Given the description of an element on the screen output the (x, y) to click on. 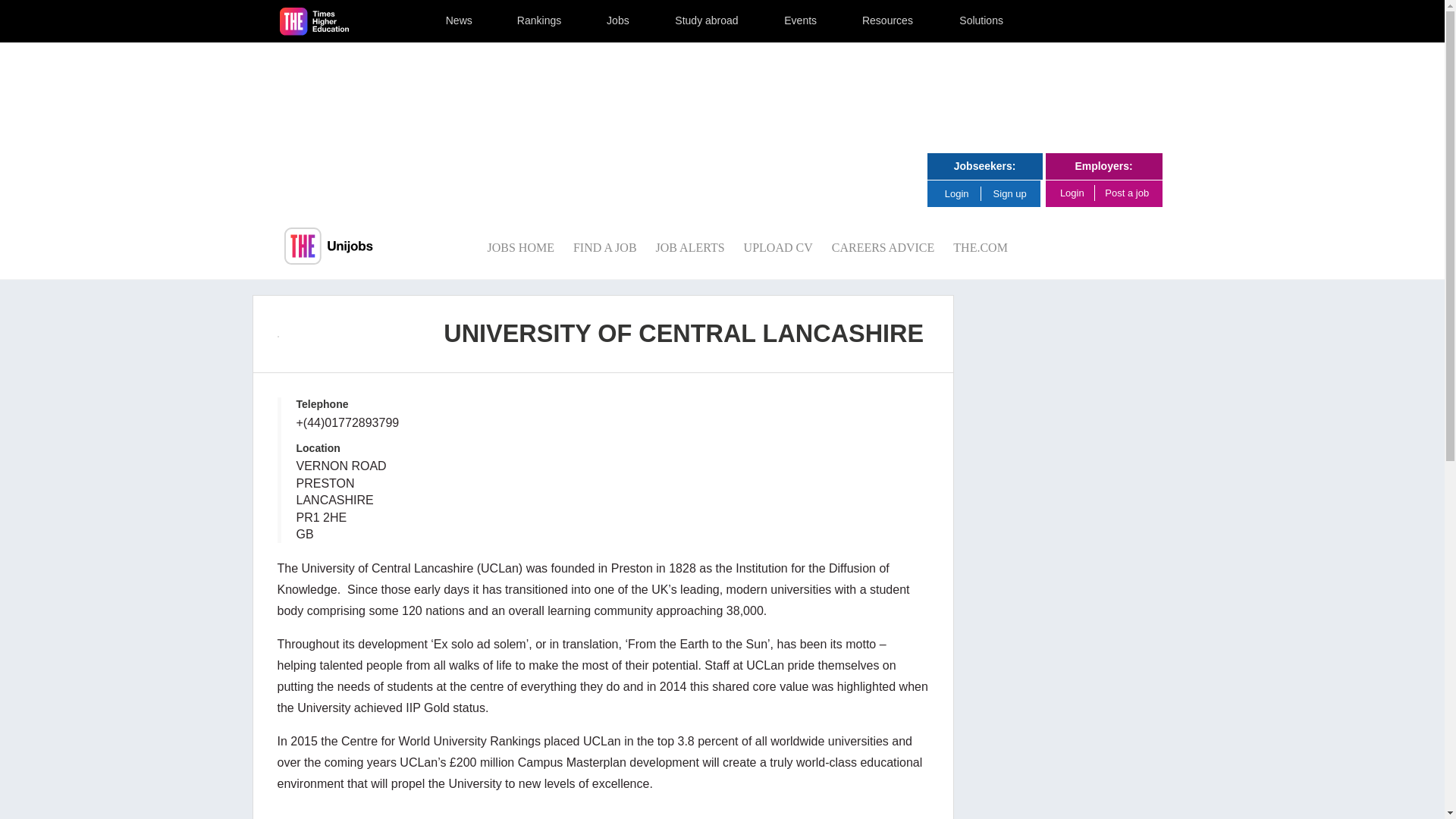
CAREERS ADVICE (882, 246)
THEunijobs (327, 246)
Sign up (1010, 194)
Study abroad (705, 21)
Resources (888, 21)
FIND A JOB (605, 246)
JOB ALERTS (690, 246)
UPLOAD CV (778, 246)
News (459, 21)
Jobs (617, 21)
JOBS HOME (519, 246)
Solutions (981, 21)
Rankings (540, 21)
Events (800, 21)
Login (961, 193)
